Given the description of an element on the screen output the (x, y) to click on. 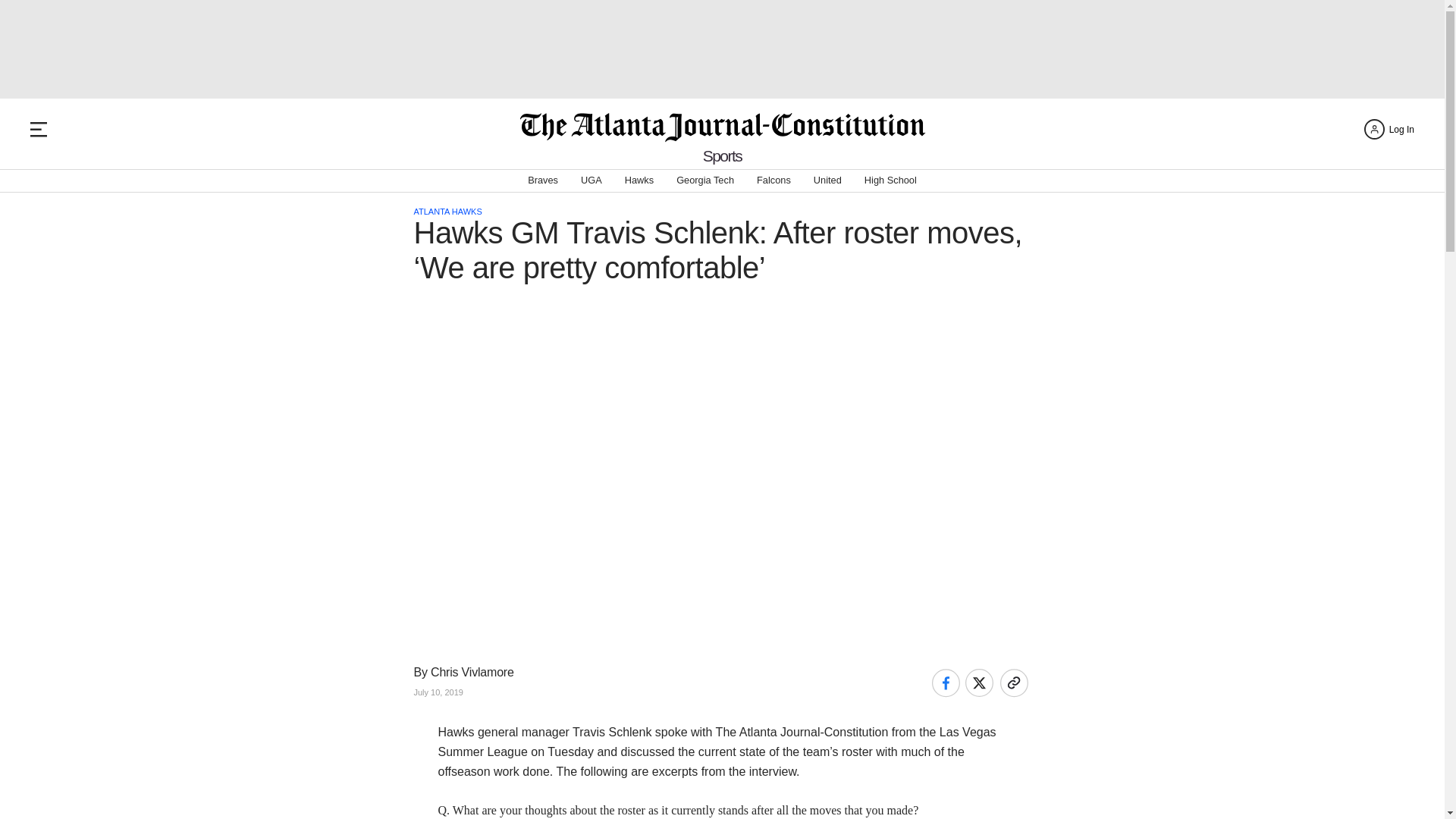
High School (890, 180)
Sports (722, 155)
Hawks (638, 180)
Falcons (773, 180)
United (827, 180)
Georgia Tech (705, 180)
Braves (542, 180)
UGA (591, 180)
